Given the description of an element on the screen output the (x, y) to click on. 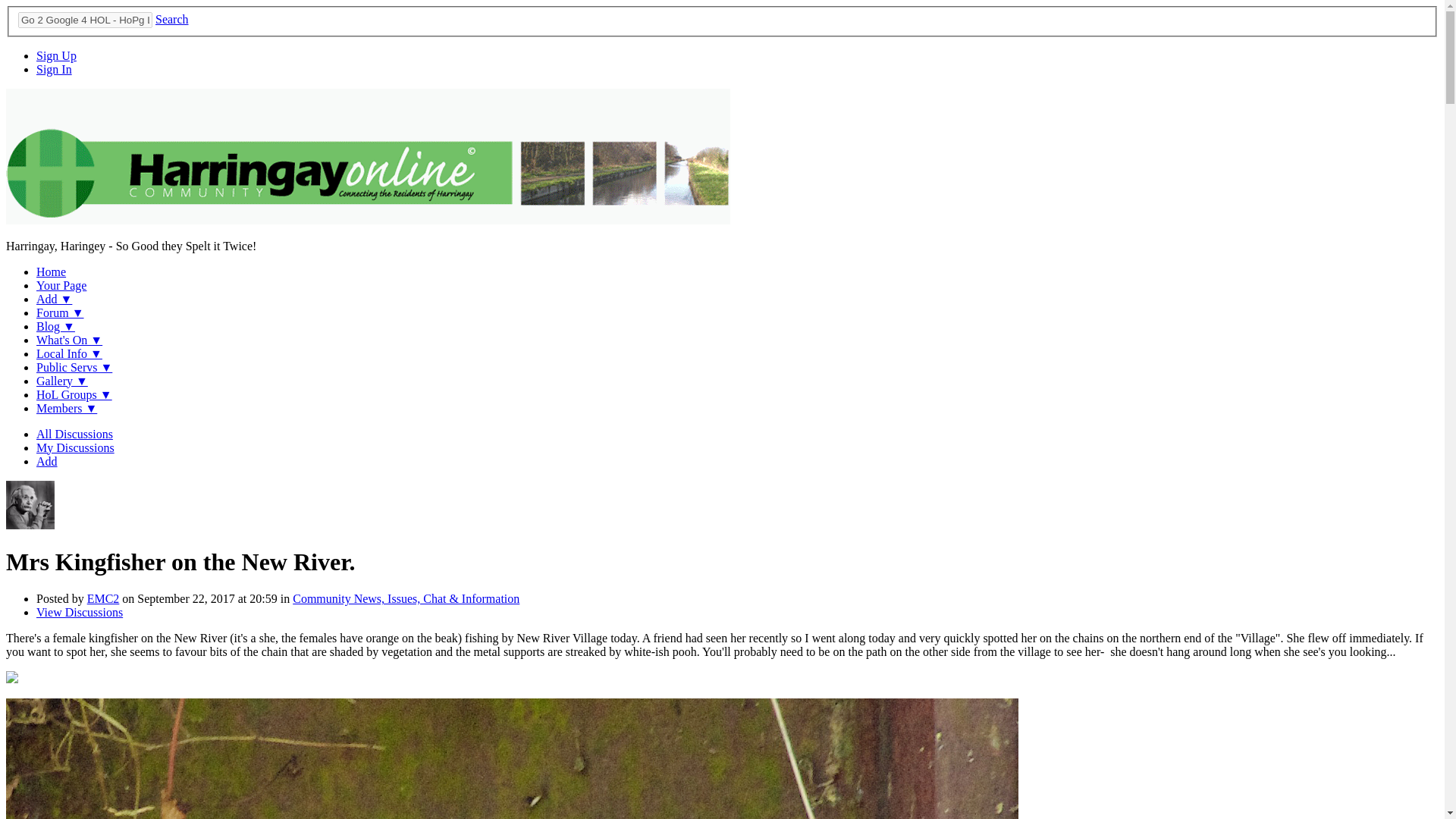
EMC2 (30, 524)
Search (172, 19)
Home (50, 271)
Go 2 Google 4 HOL - HoPg Lft Col (84, 19)
Your Page (60, 285)
Sign In (53, 69)
Go 2 Google 4 HOL - HoPg Lft Col (84, 19)
Sign Up (56, 55)
